Given the description of an element on the screen output the (x, y) to click on. 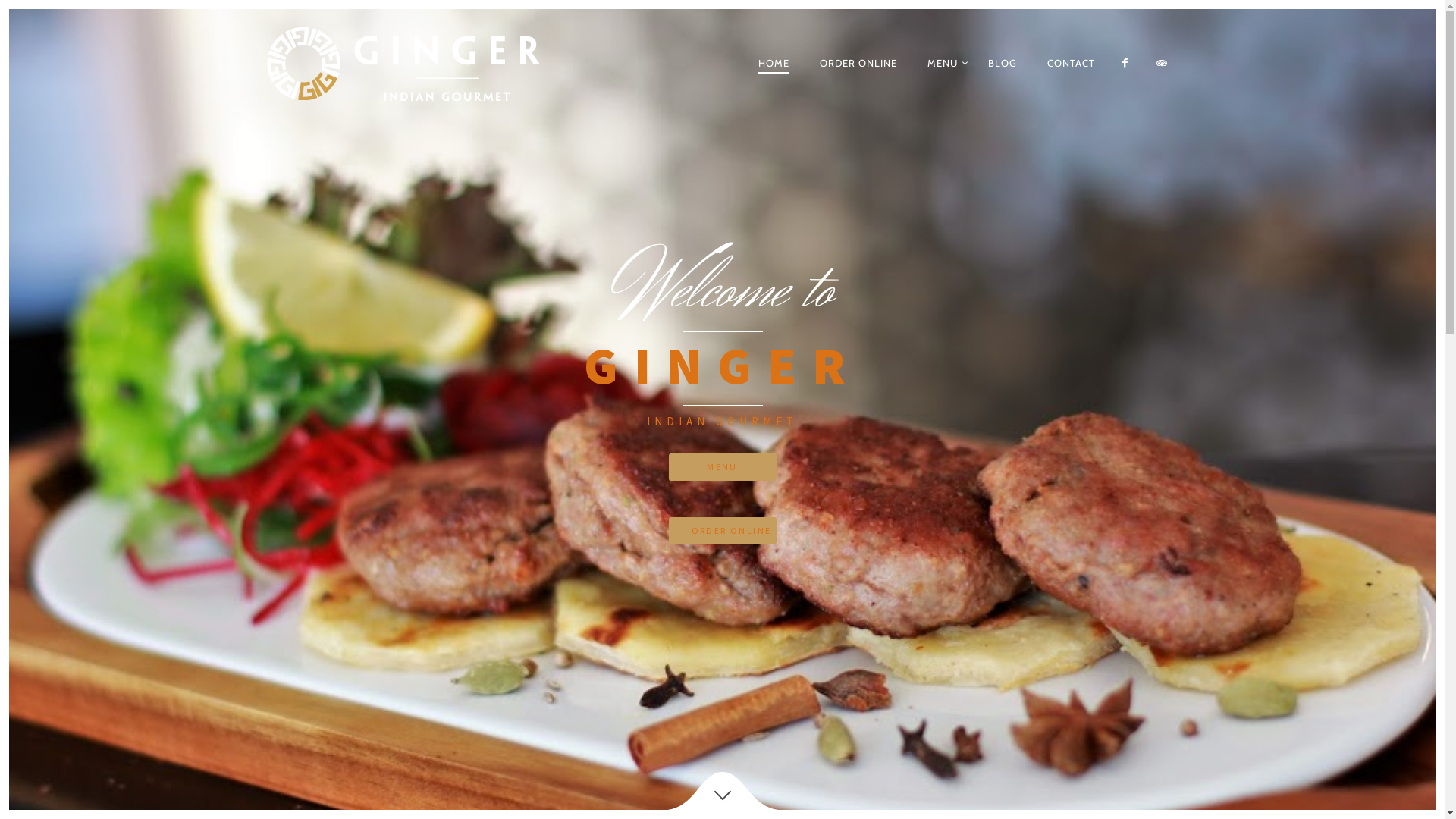
CONTACT Element type: text (1070, 62)
BLOG Element type: text (1002, 62)
MENU Element type: text (722, 466)
MENU Element type: text (942, 62)
ORDER ONLINE Element type: text (858, 62)
Ginger Indian Gourmet Element type: hover (442, 63)
ORDER ONLINE Element type: text (722, 530)
HOME Element type: text (773, 63)
